Given the description of an element on the screen output the (x, y) to click on. 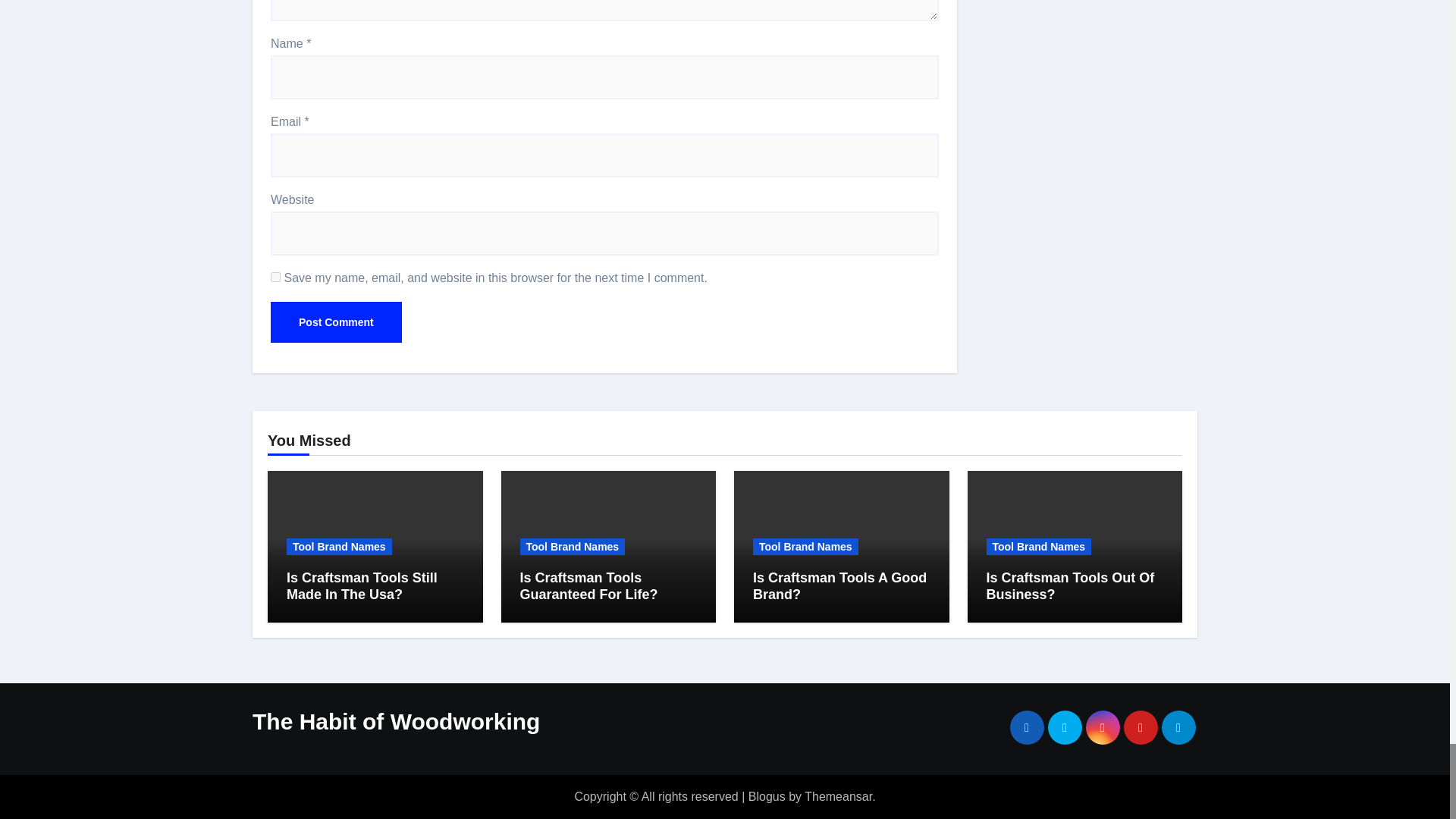
Permalink to: Is Craftsman Tools Still Made In The Usa? (362, 585)
Permalink to: Is Craftsman Tools Guaranteed For Life? (588, 585)
Permalink to: Is Craftsman Tools A Good Brand? (839, 585)
Permalink to: Is Craftsman Tools Out Of Business? (1069, 585)
Post Comment (335, 322)
yes (275, 276)
